Given the description of an element on the screen output the (x, y) to click on. 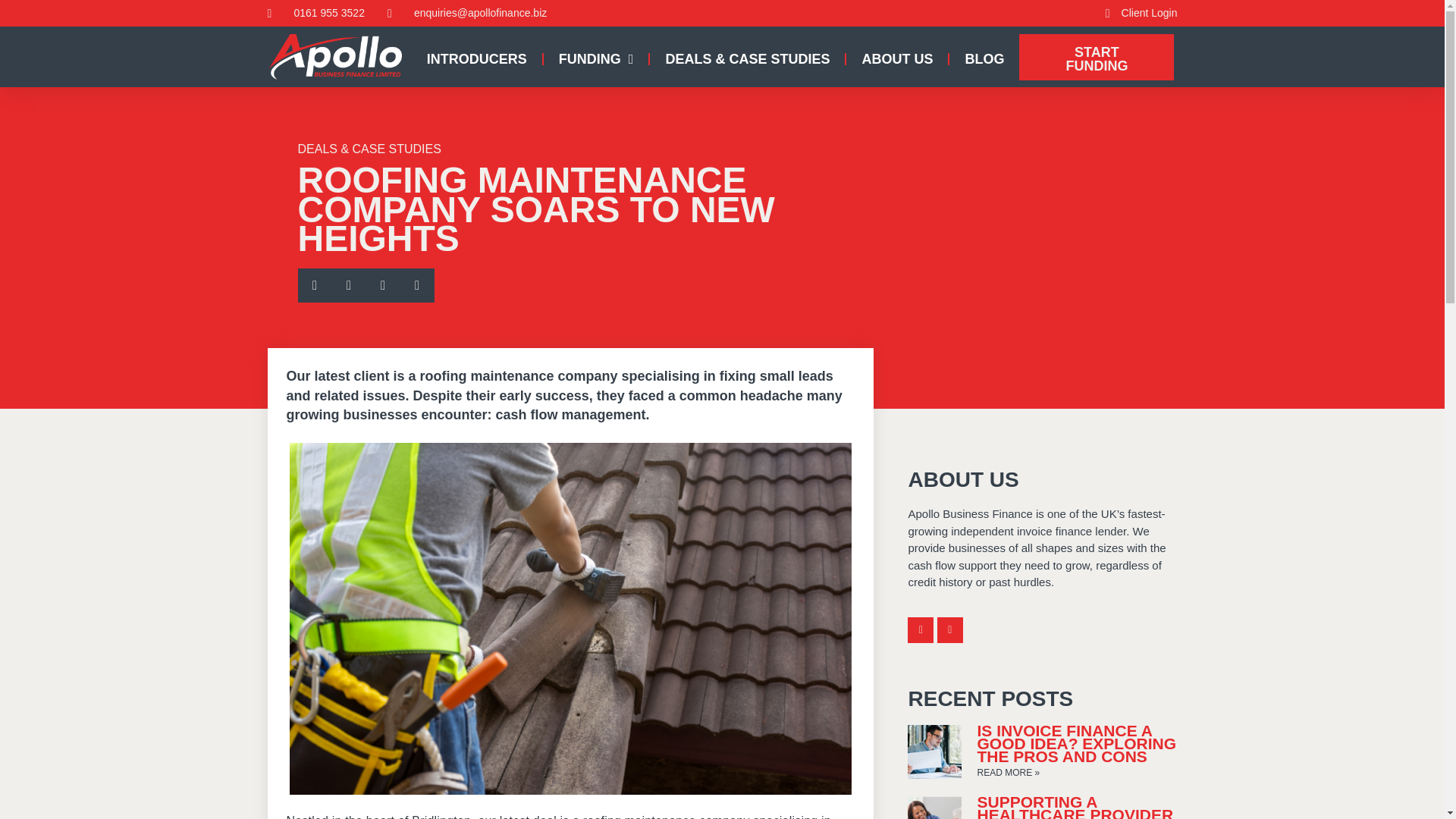
BLOG (984, 58)
INTRODUCERS (476, 58)
ABOUT US (896, 58)
FUNDING (596, 58)
START FUNDING (1096, 57)
Client Login (1135, 12)
